Given the description of an element on the screen output the (x, y) to click on. 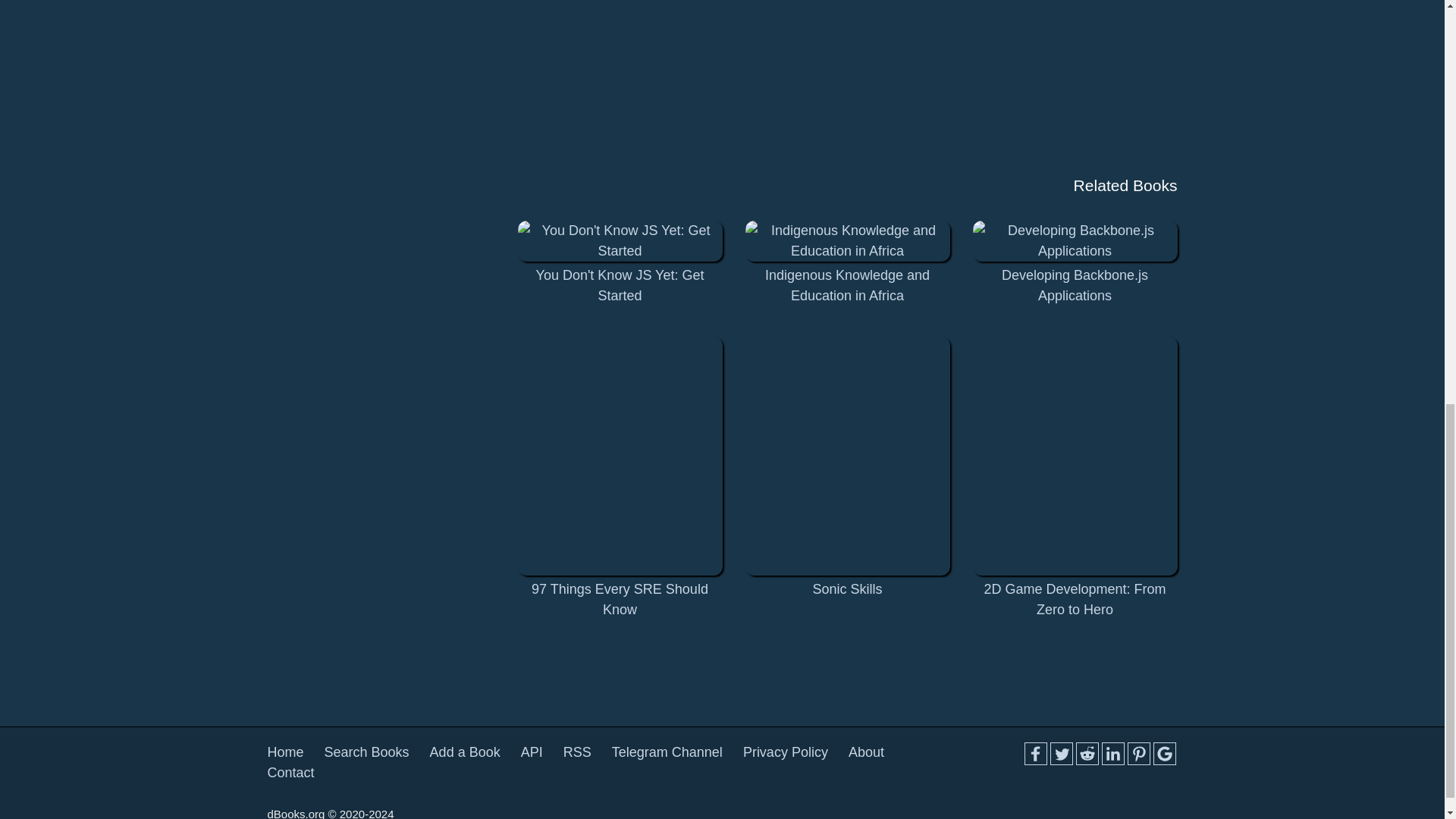
Share to Twitter (1060, 753)
Share to Pinterest (1138, 753)
Share to Facebook (1034, 753)
Share to Reddit (1086, 753)
Add to Google Bookmarks (1163, 753)
Share to LinkedIn (1112, 753)
